Given the description of an element on the screen output the (x, y) to click on. 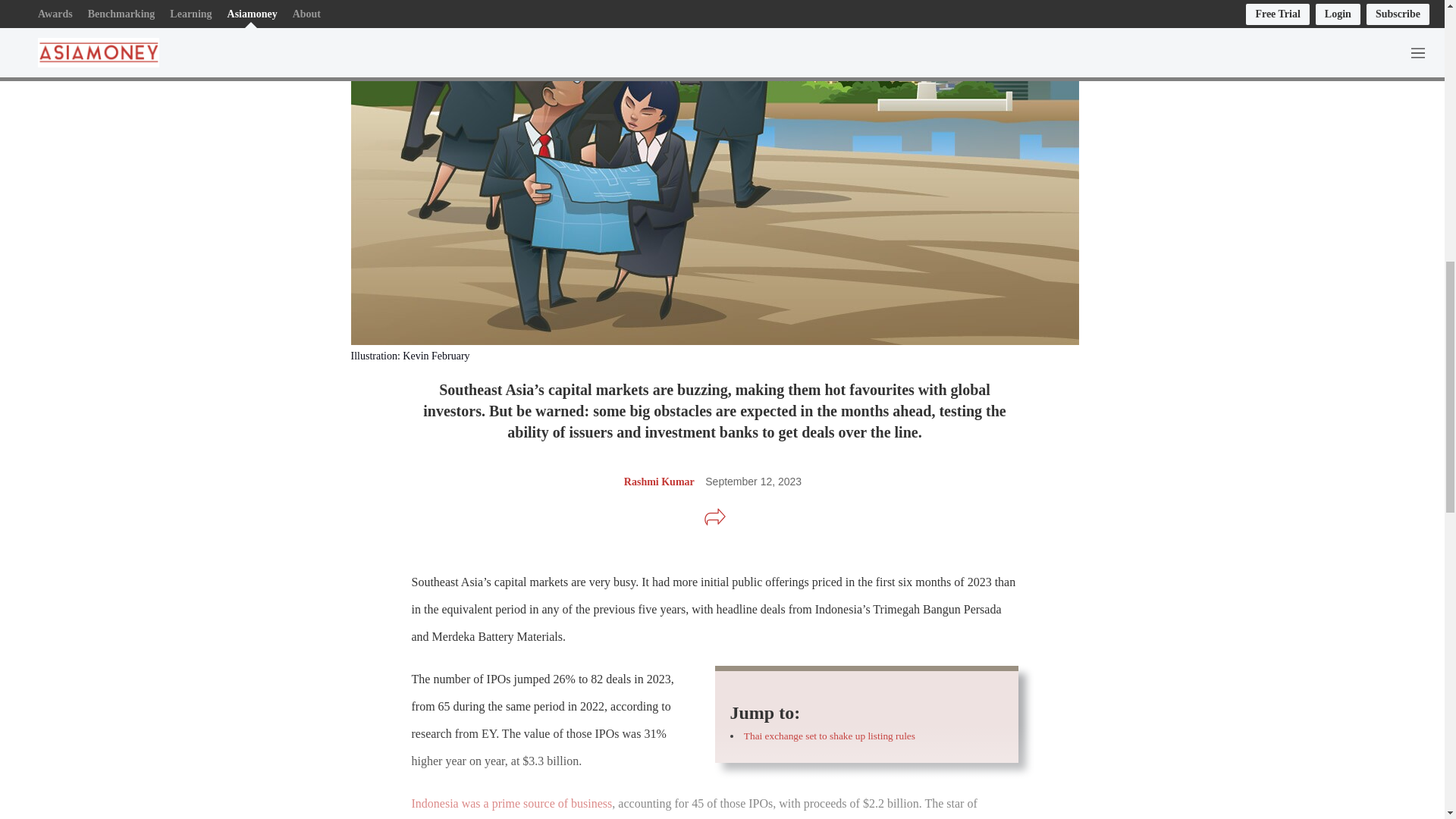
Share (714, 517)
